Given the description of an element on the screen output the (x, y) to click on. 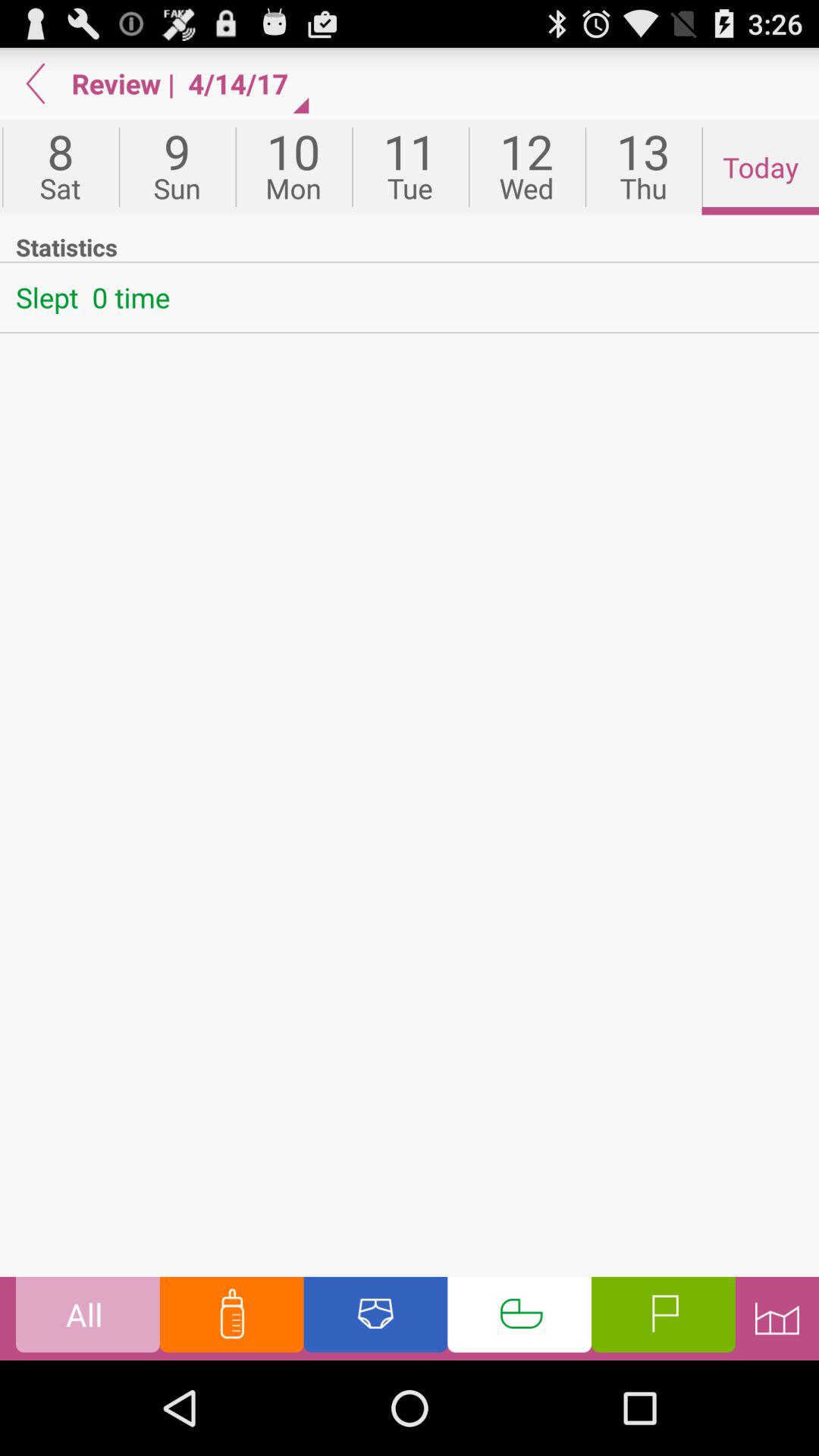
show activity graphics (777, 1318)
